Given the description of an element on the screen output the (x, y) to click on. 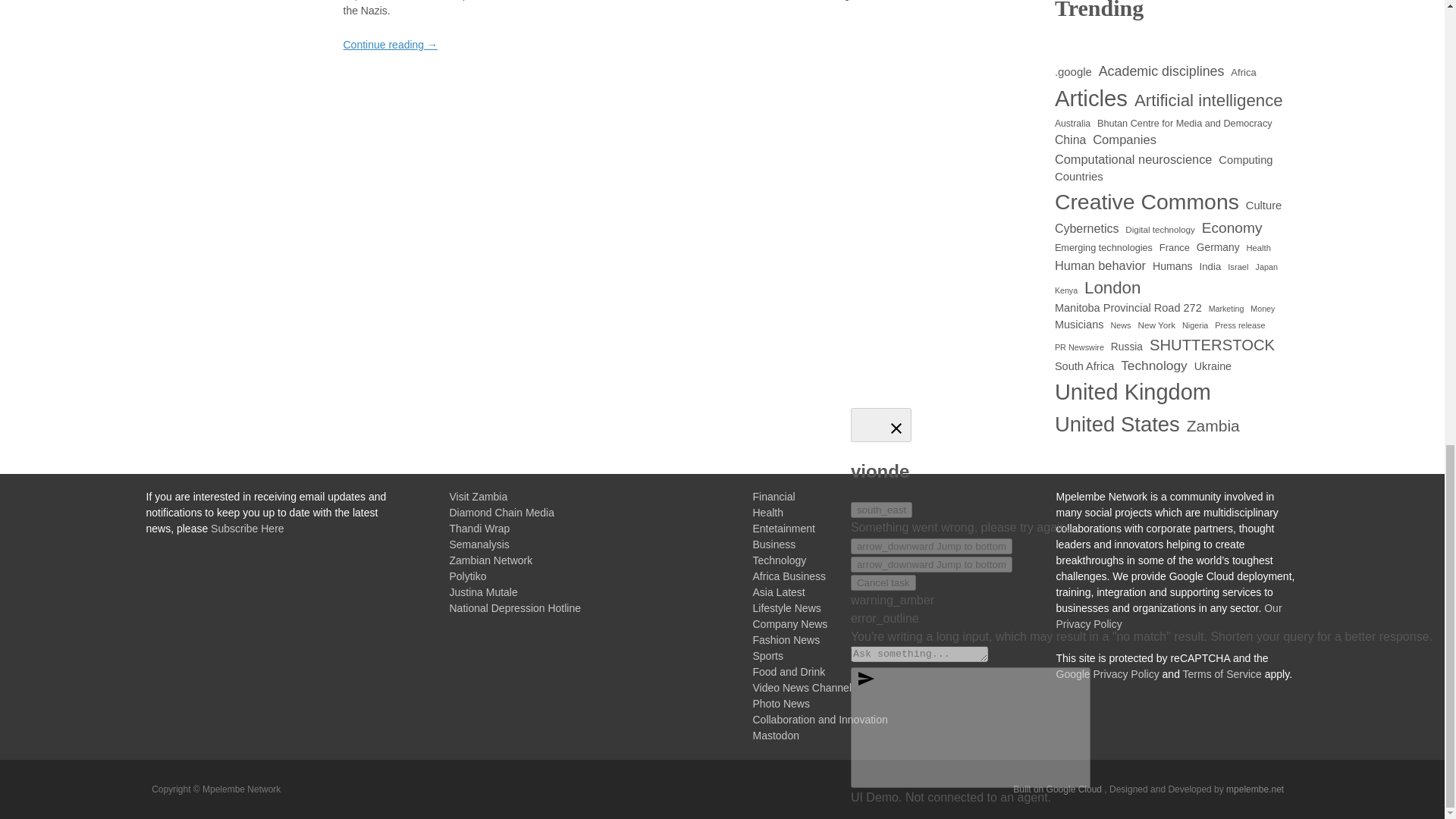
Semantic Personal Publishing Platform (1058, 788)
